Given the description of an element on the screen output the (x, y) to click on. 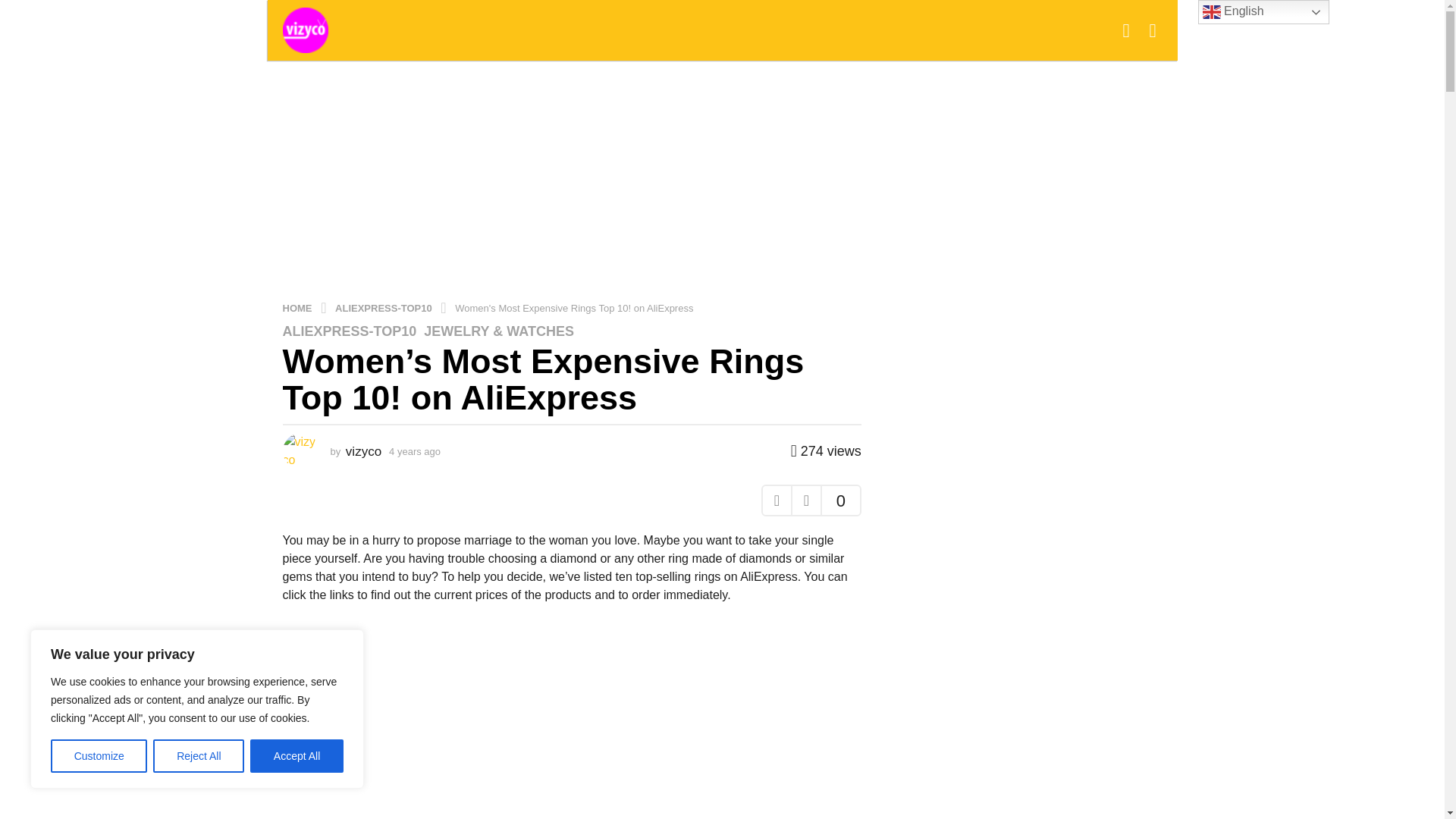
Top 10! Women's Rings on AliExpress (571, 719)
Reject All (198, 756)
Accept All (296, 756)
Customize (98, 756)
